Given the description of an element on the screen output the (x, y) to click on. 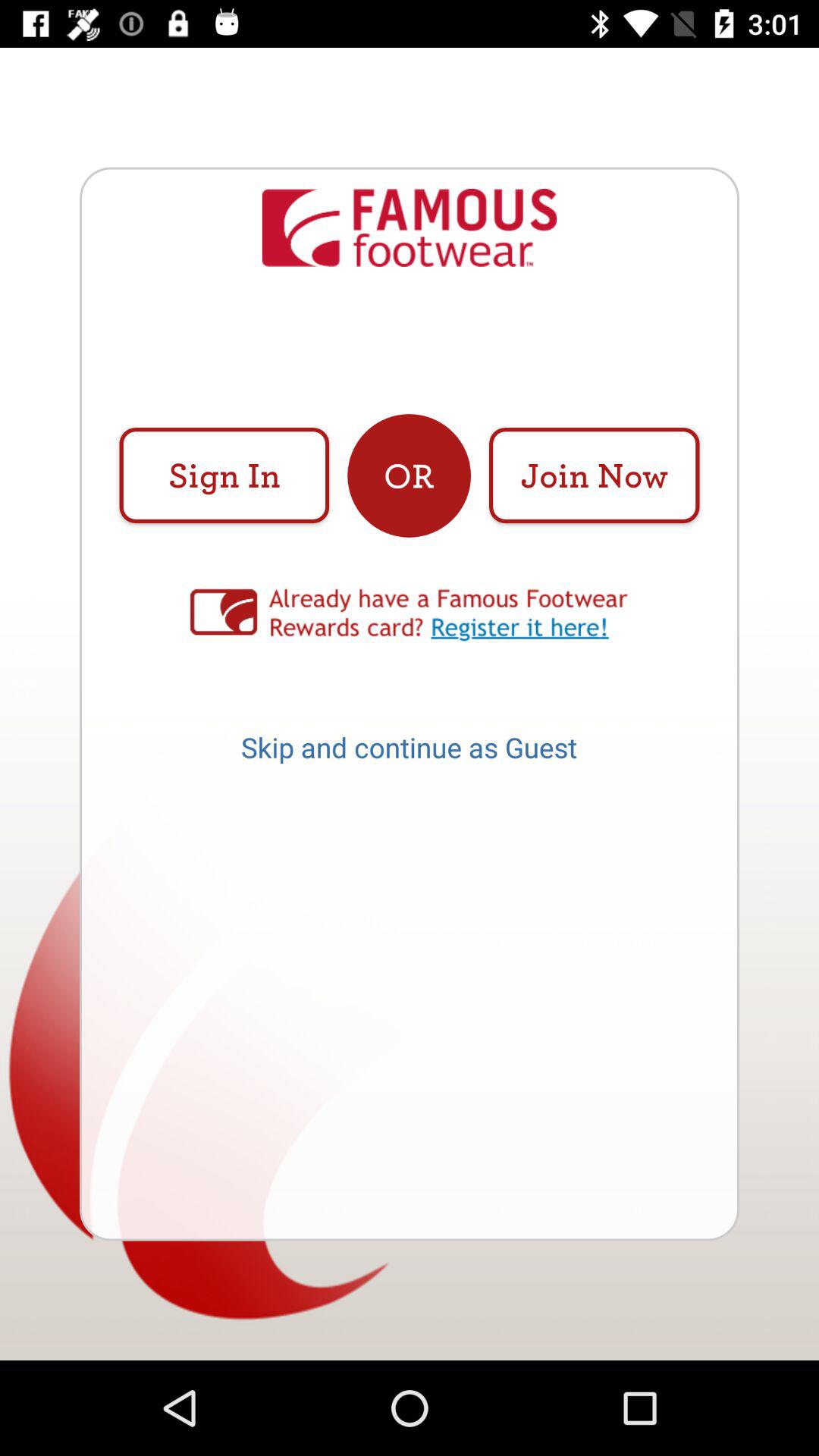
launch item above the skip and continue (409, 614)
